Given the description of an element on the screen output the (x, y) to click on. 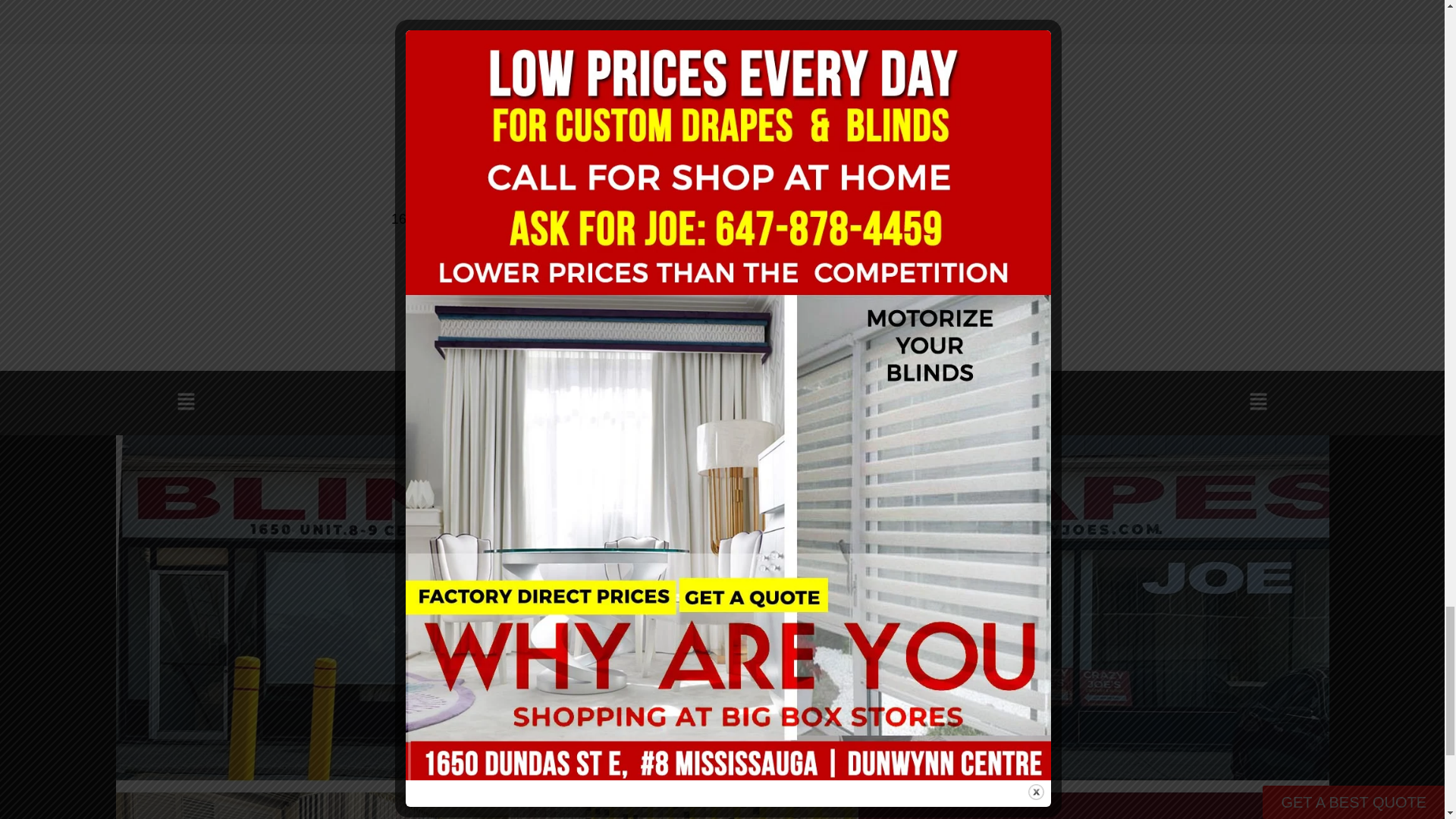
Facebook-f (481, 89)
Instagram (506, 89)
